Given the description of an element on the screen output the (x, y) to click on. 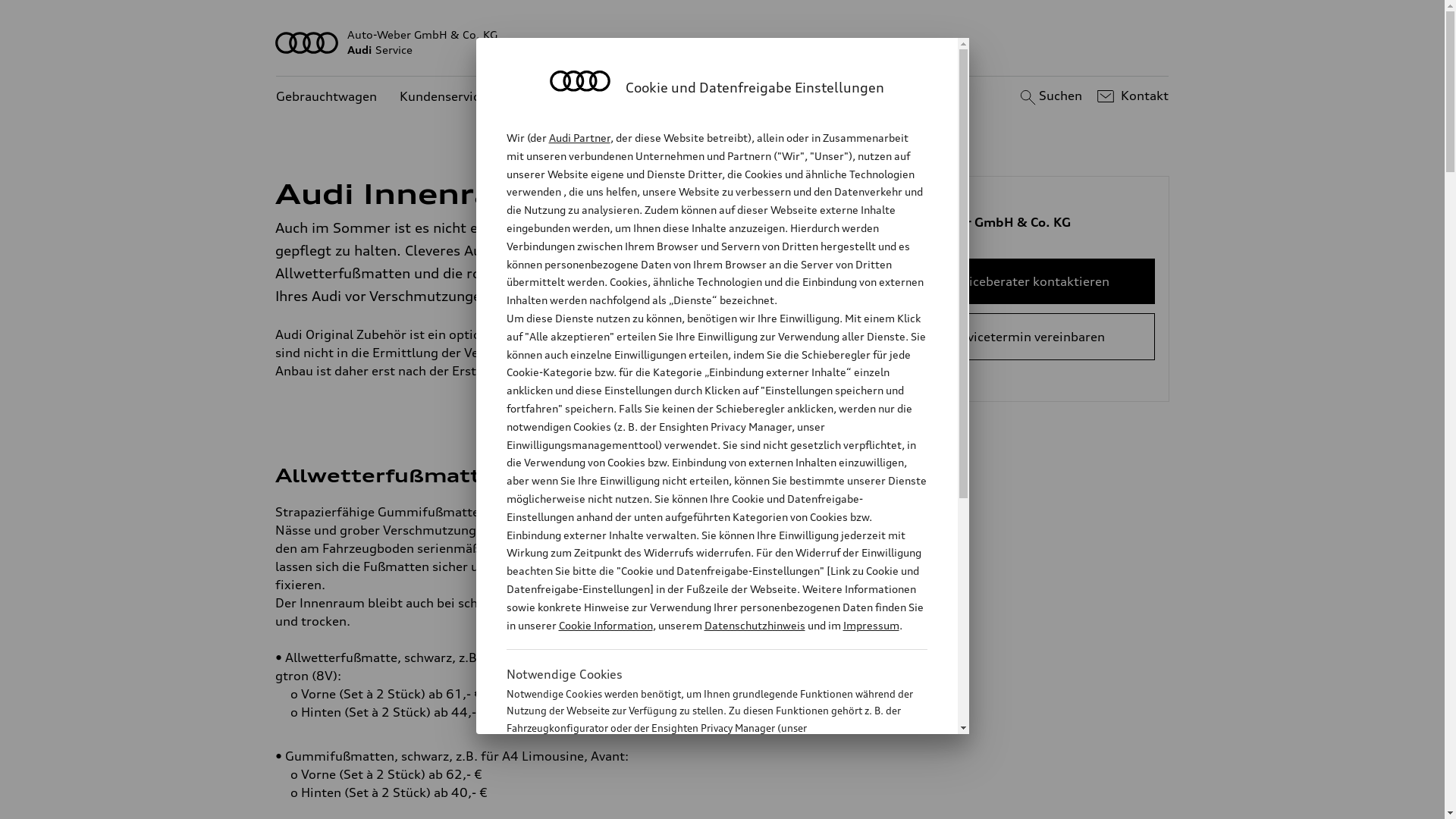
Audi Partner Element type: text (579, 137)
Impressum Element type: text (871, 624)
Kundenservice Element type: text (442, 96)
Gebrauchtwagen Element type: text (326, 96)
Serviceberater kontaktieren Element type: text (1025, 281)
Suchen Element type: text (1049, 96)
Auto-Weber GmbH & Co. KG
AudiService Element type: text (722, 42)
Cookie Information Element type: text (700, 802)
Cookie Information Element type: text (605, 624)
Kontakt Element type: text (1130, 96)
Servicetermin vereinbaren Element type: text (1025, 336)
Datenschutzhinweis Element type: text (753, 624)
